Given the description of an element on the screen output the (x, y) to click on. 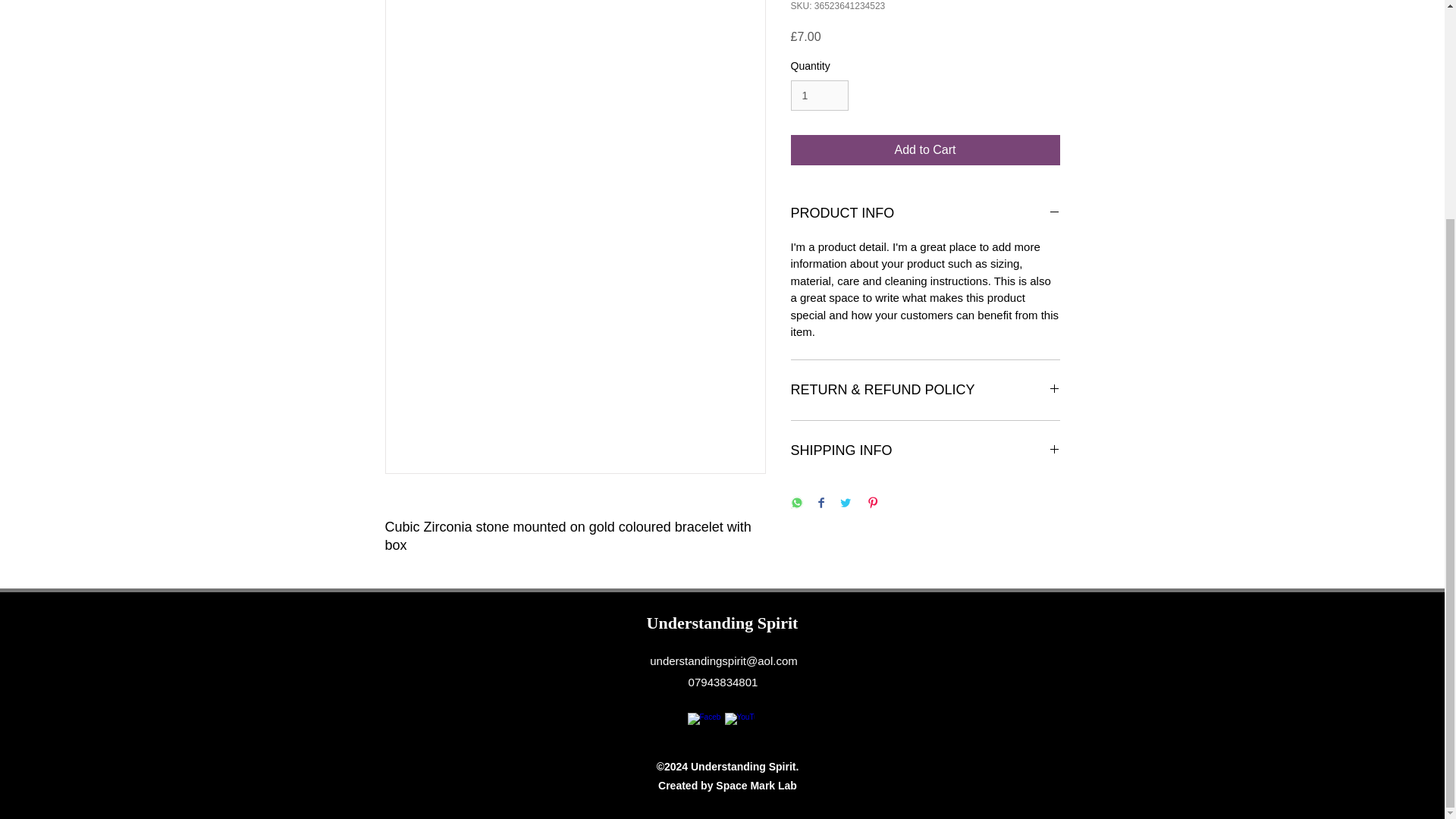
Understanding Spirit (721, 622)
SHIPPING INFO (924, 450)
Add to Cart (924, 150)
1 (818, 95)
Space Mark Lab (756, 785)
PRODUCT INFO (924, 213)
